Given the description of an element on the screen output the (x, y) to click on. 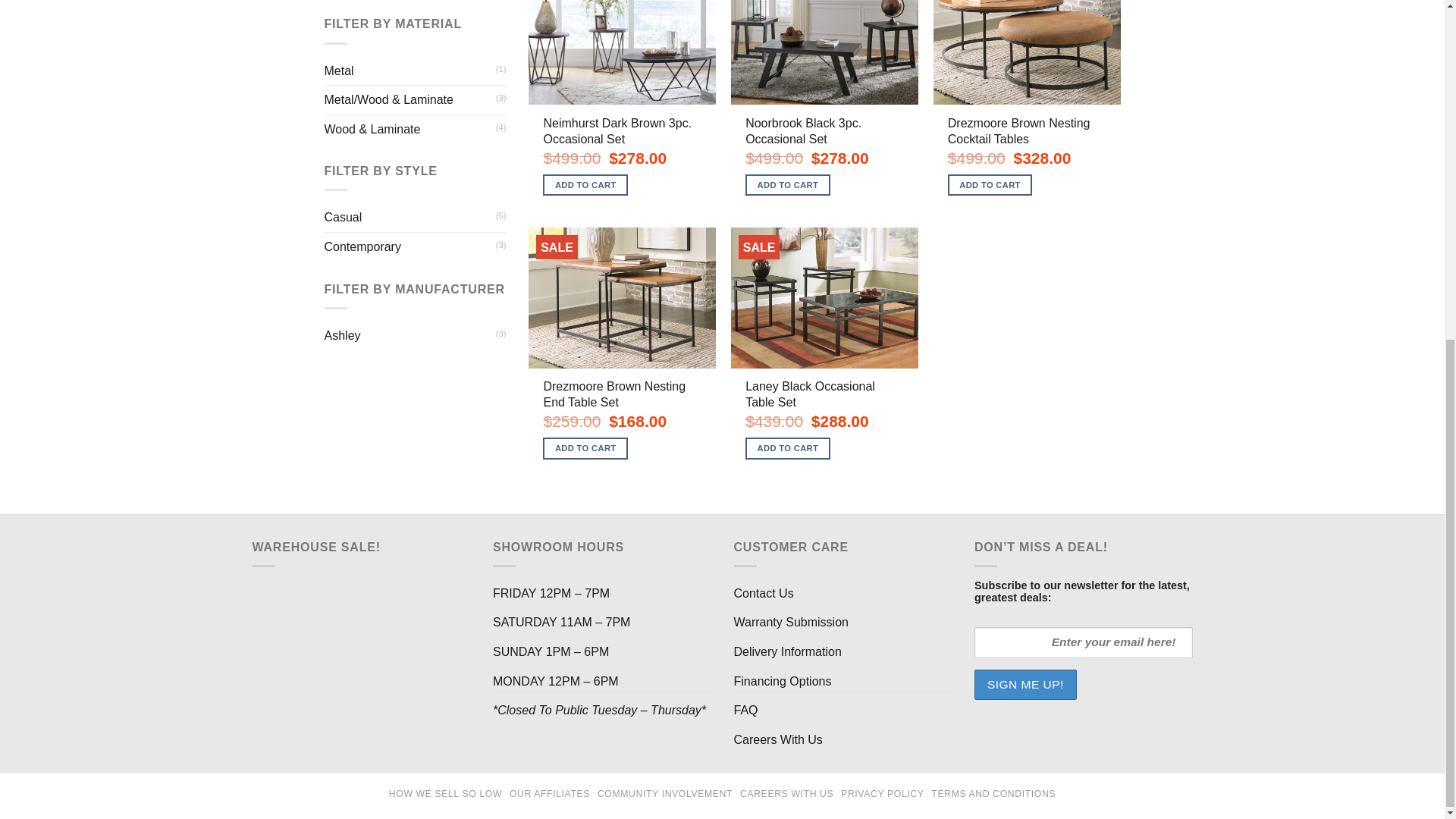
Sign me up! (1025, 684)
